Given the description of an element on the screen output the (x, y) to click on. 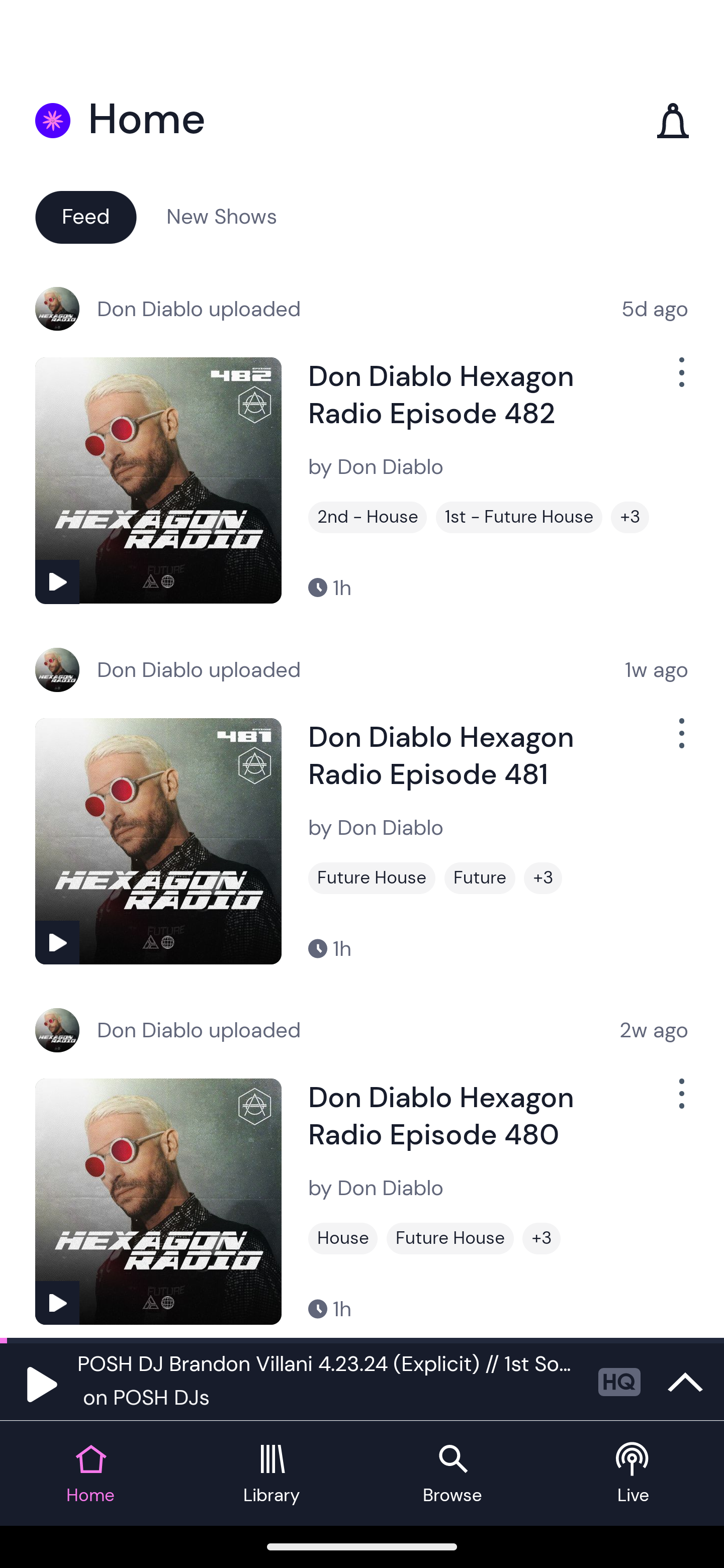
Feed (85, 216)
New Shows (221, 216)
Show Options Menu Button (679, 379)
2nd - House (367, 517)
1st - Future House (518, 517)
Show Options Menu Button (679, 740)
Future House (371, 877)
Future (479, 877)
Show Options Menu Button (679, 1101)
House (342, 1238)
Future House (450, 1238)
Home tab Home (90, 1473)
Library tab Library (271, 1473)
Browse tab Browse (452, 1473)
Live tab Live (633, 1473)
